Given the description of an element on the screen output the (x, y) to click on. 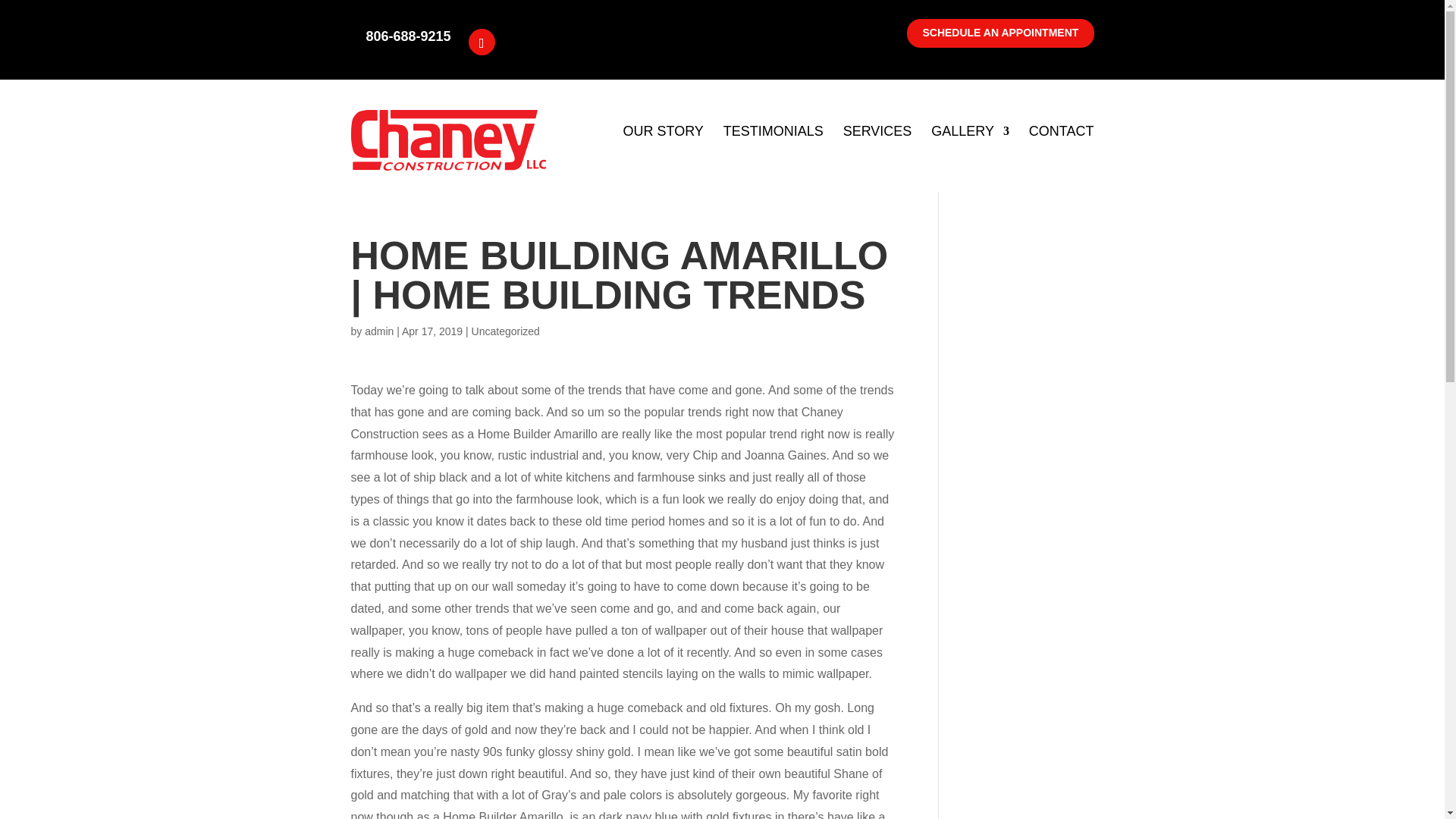
SERVICES (877, 131)
Posts by admin (379, 331)
CONTACT (1061, 131)
OUR STORY (663, 131)
admin (379, 331)
GALLERY (970, 131)
806-688-9215 (407, 39)
SCHEDULE AN APPOINTMENT (1000, 32)
TESTIMONIALS (773, 131)
